Given the description of an element on the screen output the (x, y) to click on. 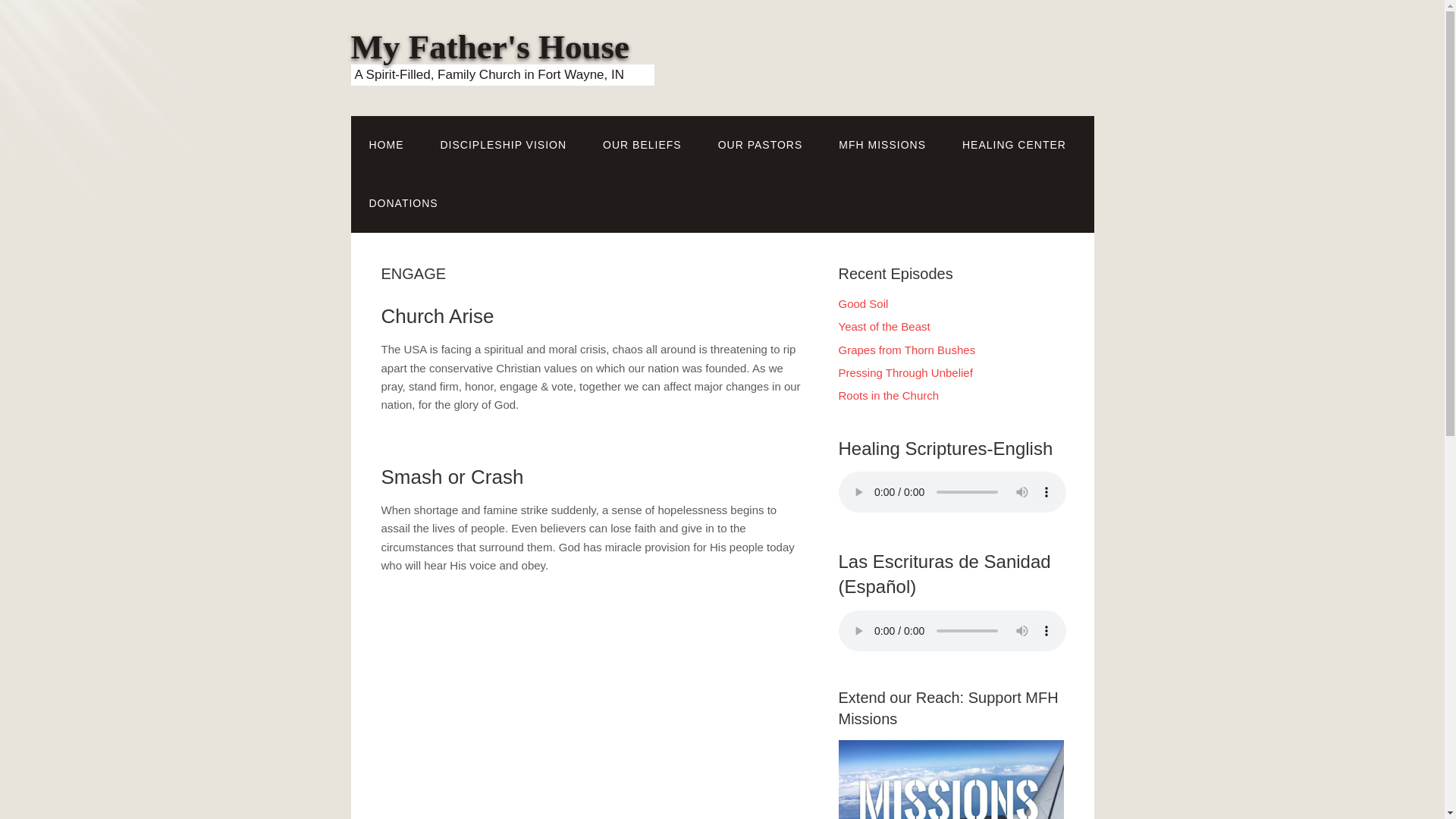
My Father's House (489, 46)
MFH MISSIONS (882, 145)
DISCIPLESHIP VISION (503, 145)
OUR PASTORS (760, 145)
Church Arise (436, 315)
Pressing Through Unbelief (905, 372)
Roots in the Church (888, 395)
Good Soil (863, 303)
DONATIONS (402, 203)
Grapes from Thorn Bushes (906, 349)
HEALING CENTER (1013, 145)
HOME (386, 145)
OUR BELIEFS (642, 145)
Smash or Crash (451, 477)
My Father's House (489, 46)
